Given the description of an element on the screen output the (x, y) to click on. 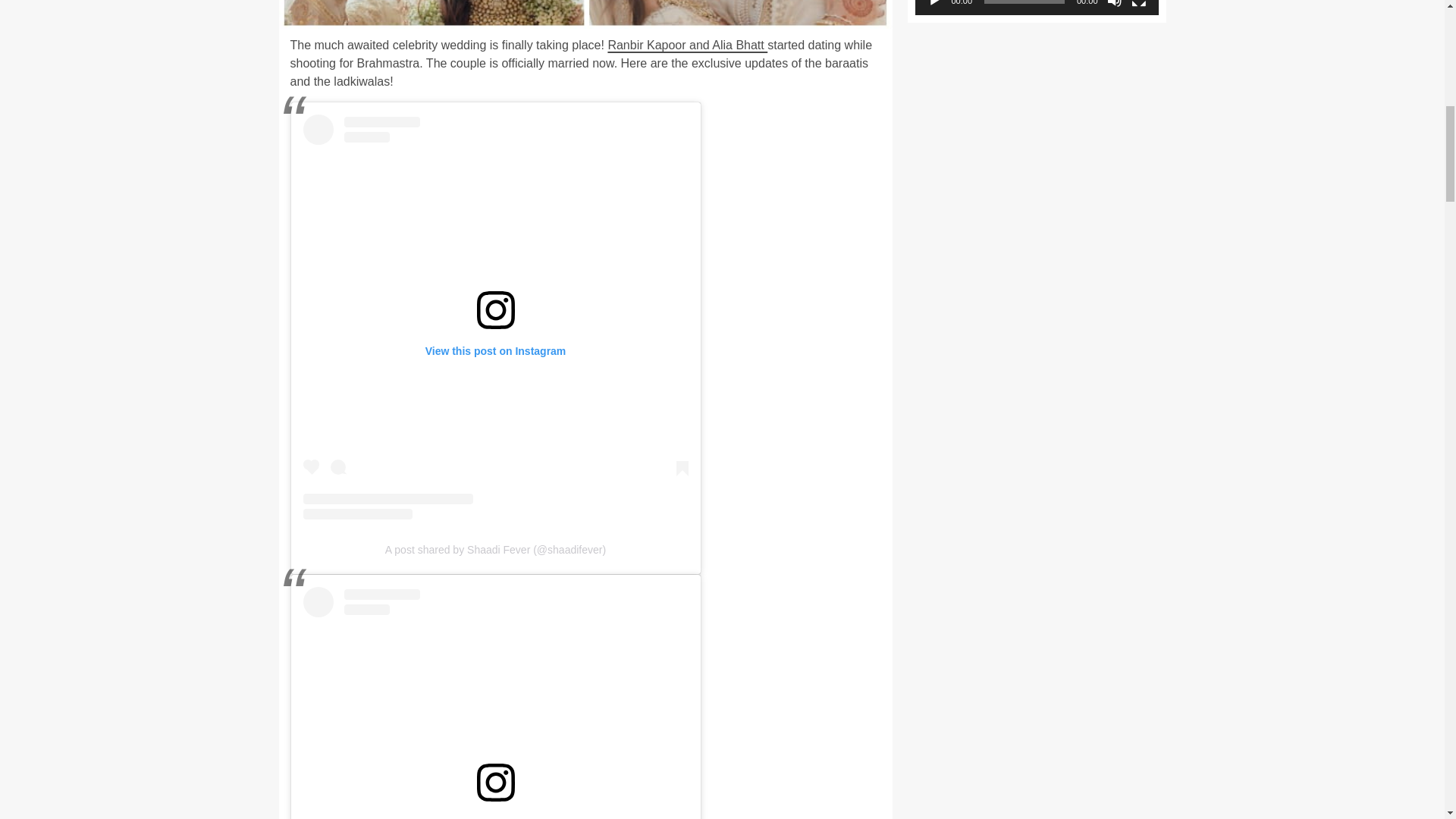
Ranbir Kapoor and Alia Bhatt (687, 44)
Fullscreen (1139, 3)
Mute (1114, 3)
Play (934, 3)
